Given the description of an element on the screen output the (x, y) to click on. 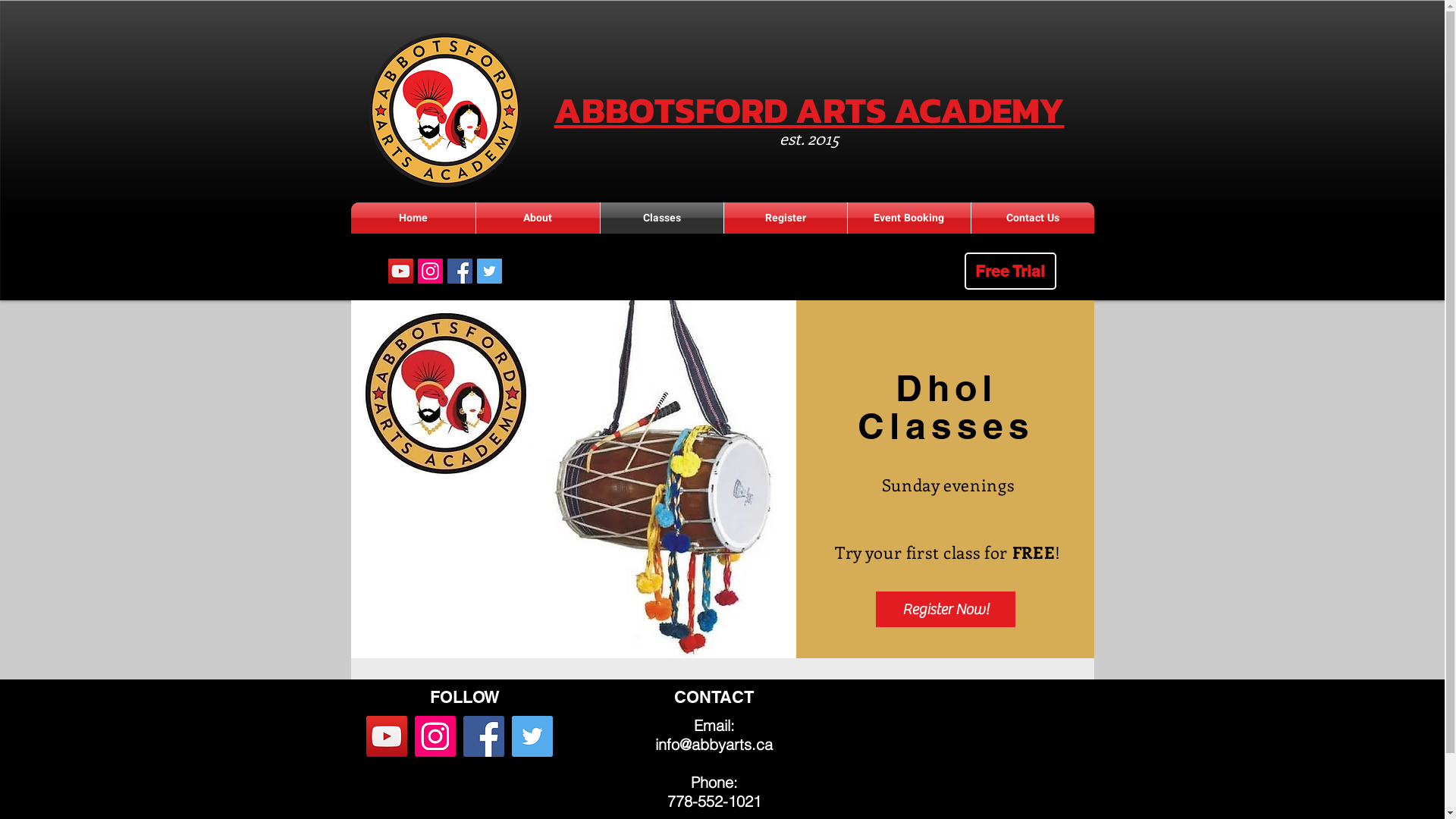
Event Booking Element type: text (908, 217)
Register Now! Element type: text (944, 609)
ABBOTSFORD ARTS ACADEMY Element type: text (808, 109)
Free Trial Element type: text (1010, 270)
info@abbyarts.ca Element type: text (713, 743)
Contact Us Element type: text (1031, 217)
Register Element type: text (784, 217)
About Element type: text (537, 217)
Home Element type: text (412, 217)
Classes Element type: text (661, 217)
